Given the description of an element on the screen output the (x, y) to click on. 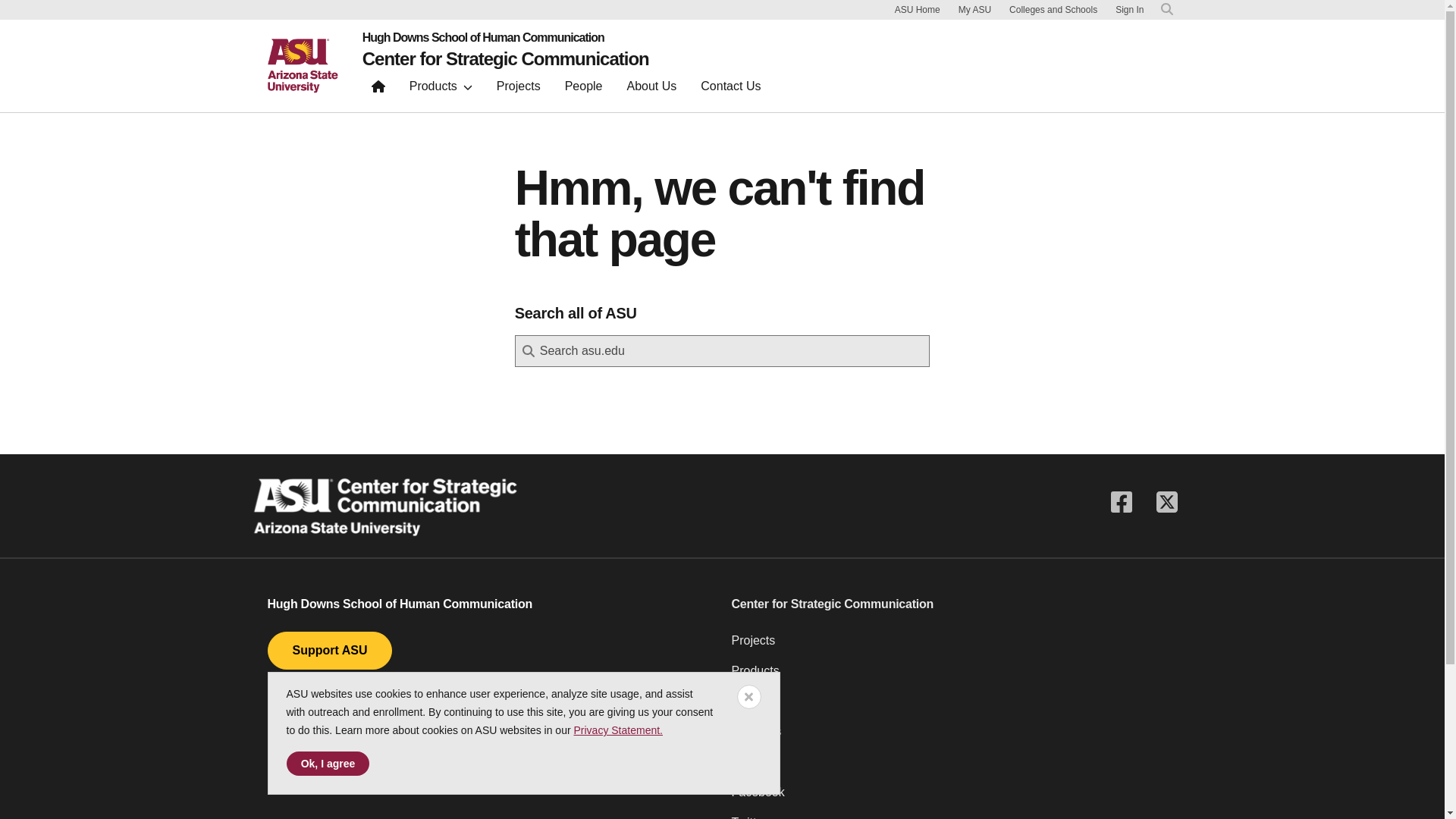
About Us (953, 737)
Projects (518, 89)
People (583, 89)
Center for Strategic Communication (505, 58)
People (953, 707)
Facebook Social Media Icon (1119, 502)
Sign In (1128, 9)
Products (440, 89)
Contact (953, 767)
Colleges and Schools (1053, 9)
People (583, 89)
Center for Strategic Communication home page (378, 89)
Hugh Downs School of Human Communication home page (505, 37)
Products (440, 89)
